Given the description of an element on the screen output the (x, y) to click on. 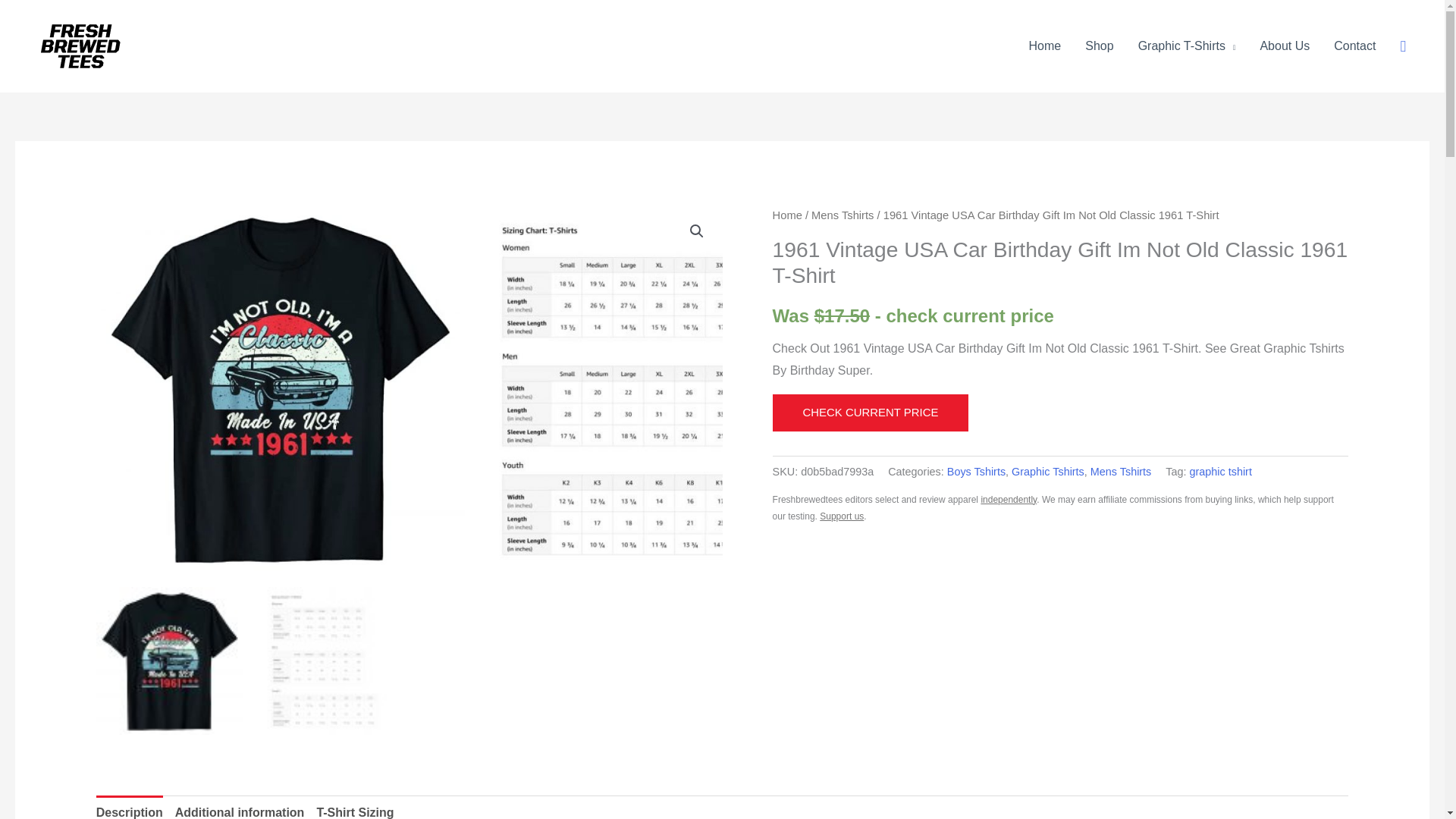
Search (1402, 46)
T-Shirt Sizing (354, 806)
Graphic T-Shirts (1186, 46)
Contact (1354, 46)
Support us (841, 516)
Mens Tshirts (1120, 471)
Mens Tshirts (841, 215)
Graphic Tshirts (1047, 471)
Description (129, 806)
Additional information (239, 806)
Shop (1099, 46)
